Given the description of an element on the screen output the (x, y) to click on. 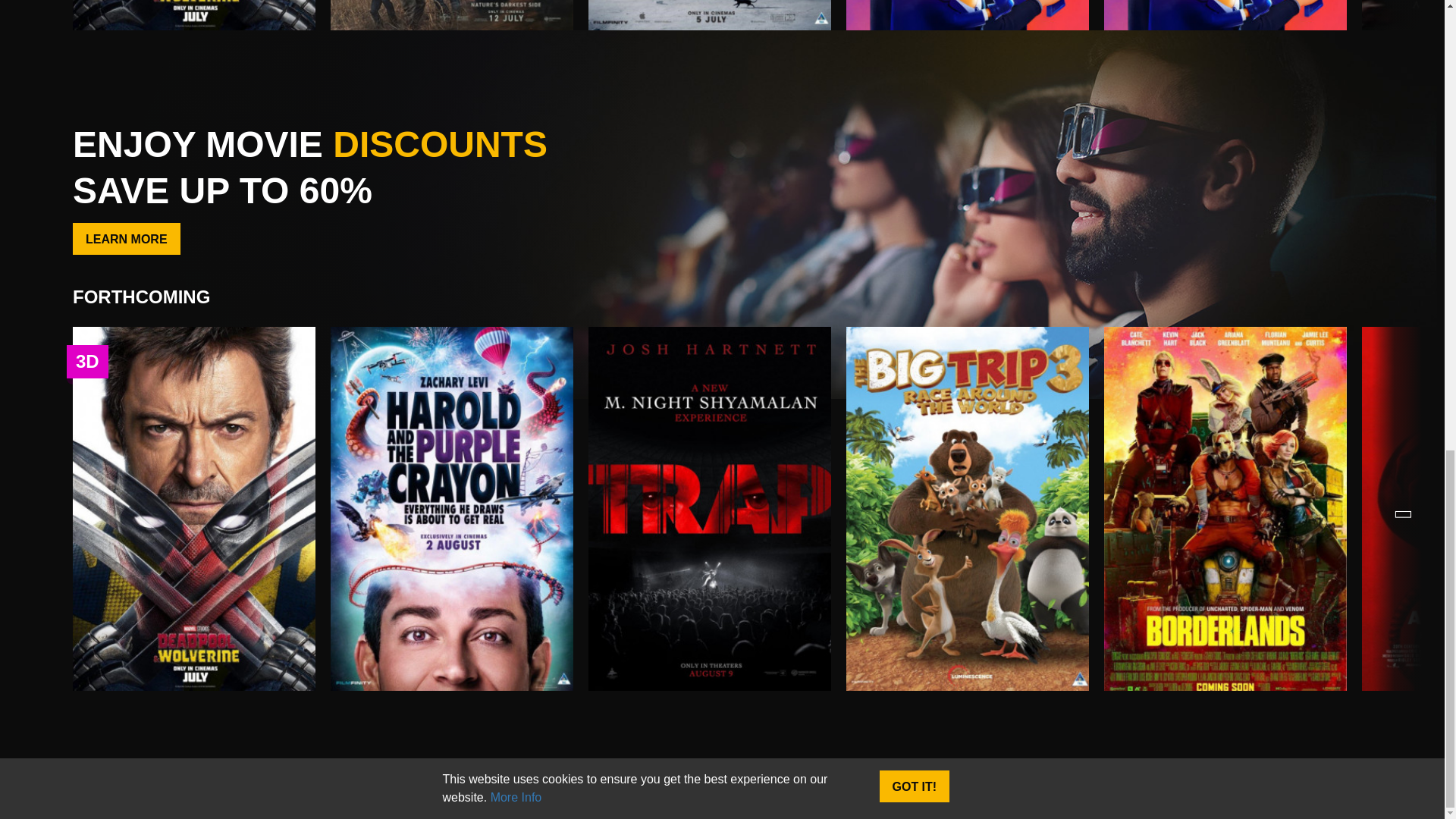
LEARN MORE (126, 238)
011-662-7448 (1111, 765)
